Given the description of an element on the screen output the (x, y) to click on. 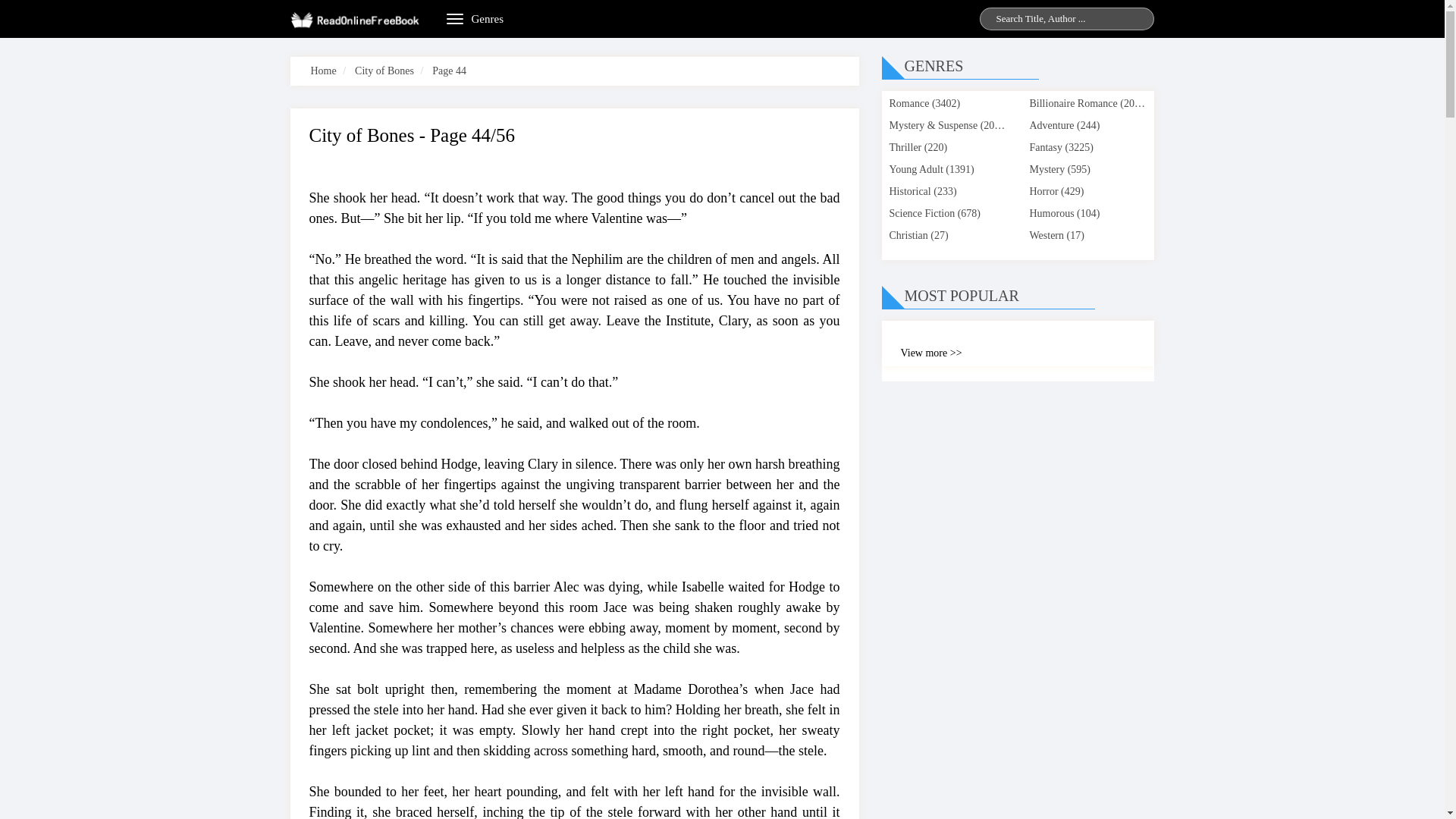
Mystery (1046, 169)
Western (1046, 235)
Romance (908, 102)
Page 44 (448, 70)
City of Bones (384, 70)
 Billionaire Romance (1072, 102)
Historical (909, 191)
Thriller (904, 147)
Young Adult (915, 169)
Adventure (1051, 125)
Horror (1043, 191)
Home (323, 70)
Adventure (1051, 125)
Humorous (1051, 213)
Science Fiction (921, 213)
